Given the description of an element on the screen output the (x, y) to click on. 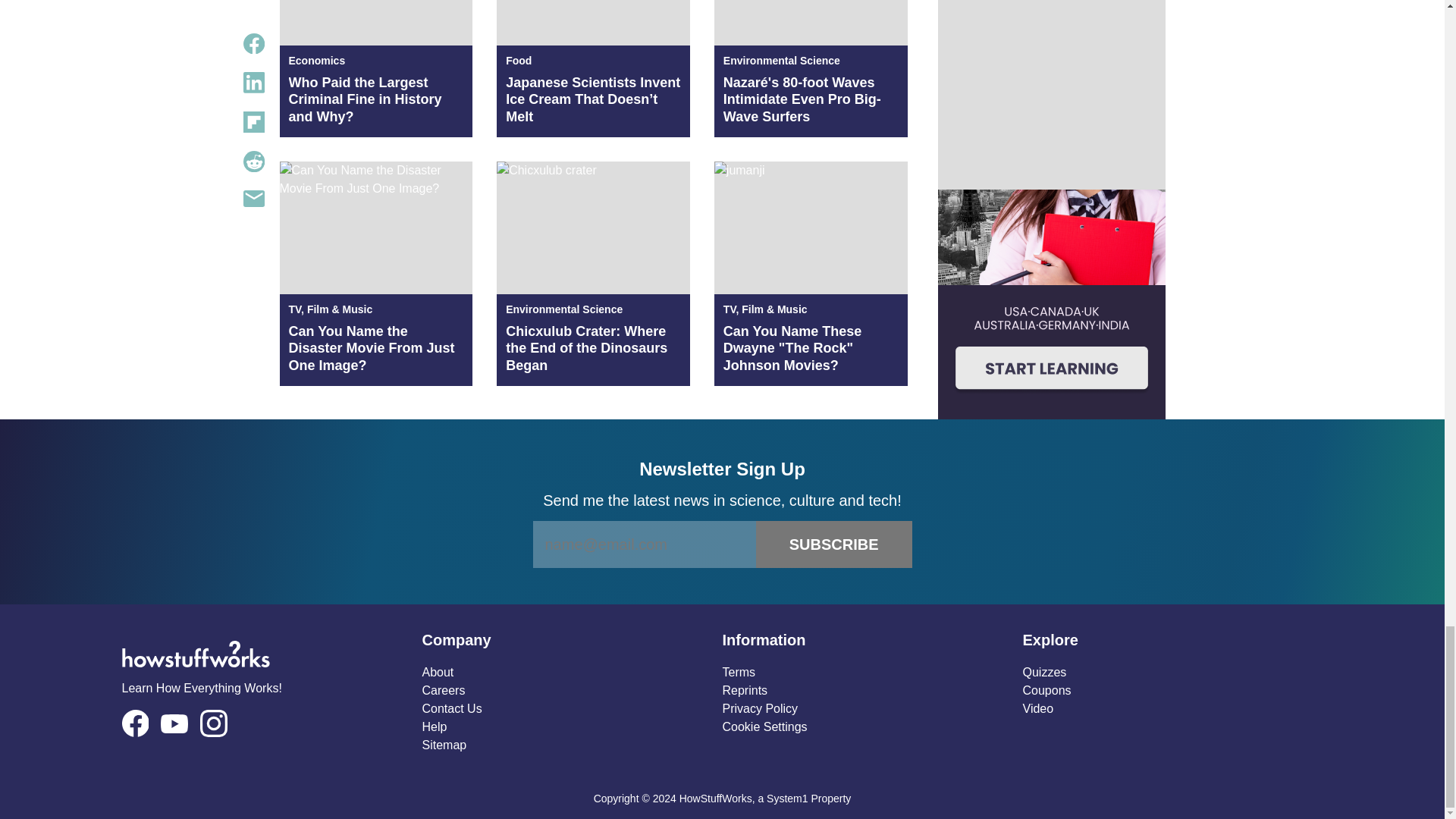
Visit HowStuffWorks on YouTube (173, 723)
Visit HowStuffWorks on Facebook (134, 723)
Visit HowStuffWorks on Instagram (213, 723)
Subscribe (833, 544)
